Given the description of an element on the screen output the (x, y) to click on. 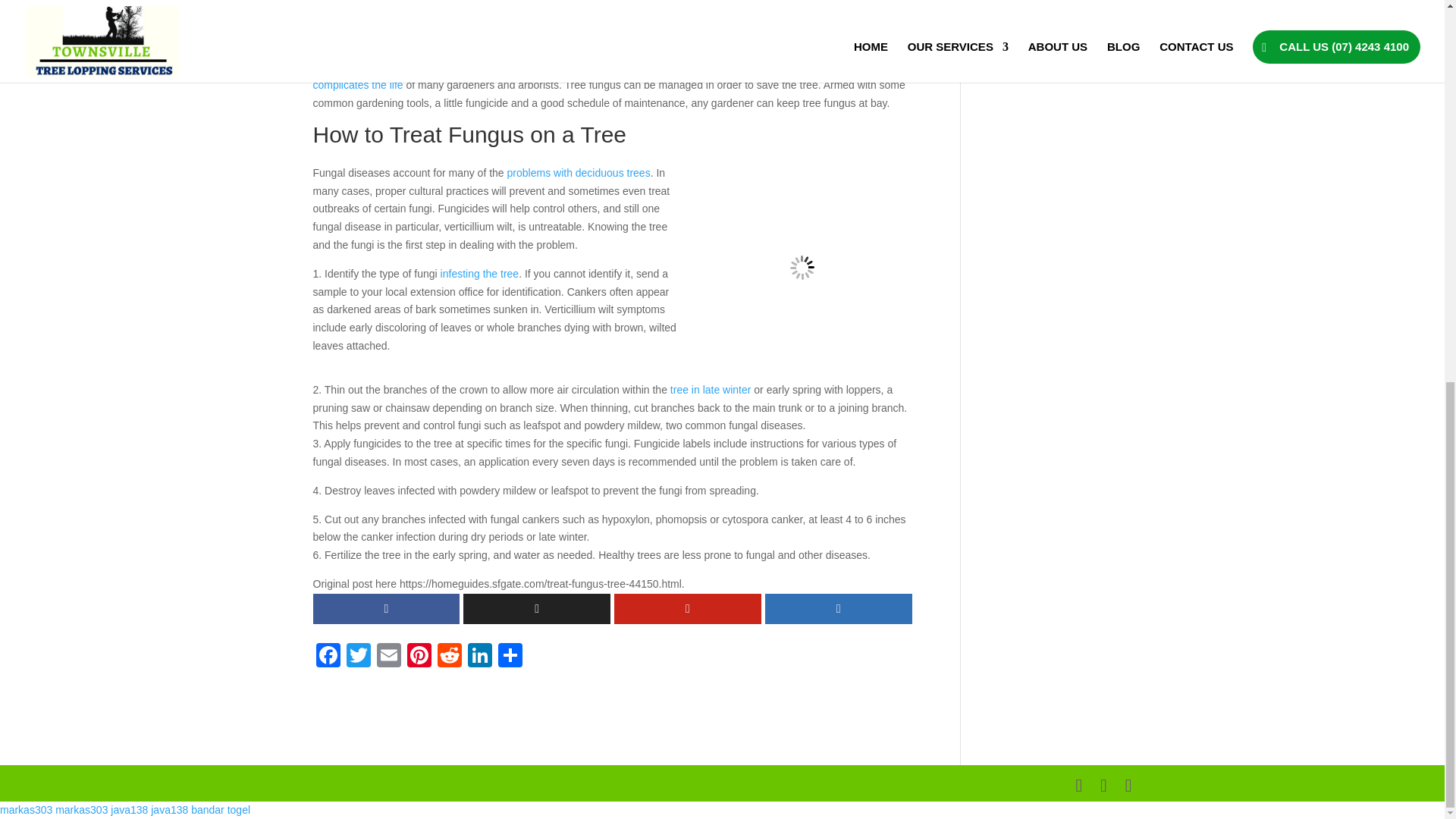
Twitter (357, 656)
infesting the tree (480, 273)
tree in late winter (710, 389)
Email (387, 656)
cause tree diseases (788, 12)
Facebook (327, 656)
Facebook (327, 656)
LinkedIn (479, 656)
Pinterest (418, 656)
problems with deciduous trees (578, 173)
